Given the description of an element on the screen output the (x, y) to click on. 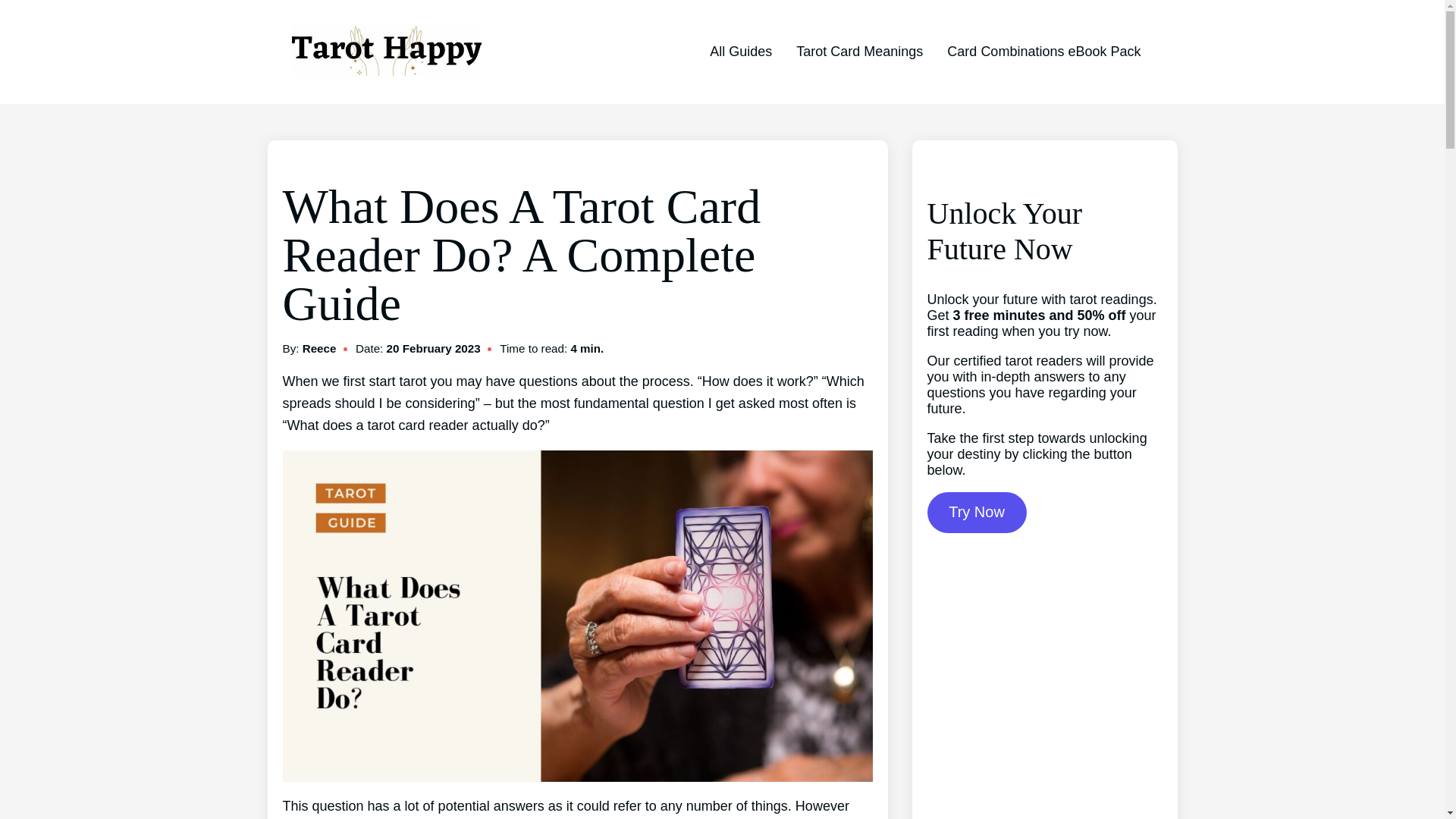
Tarot Card Meanings (859, 51)
Try Now (976, 512)
Card Combinations eBook Pack (1043, 51)
All Guides (740, 51)
